Given the description of an element on the screen output the (x, y) to click on. 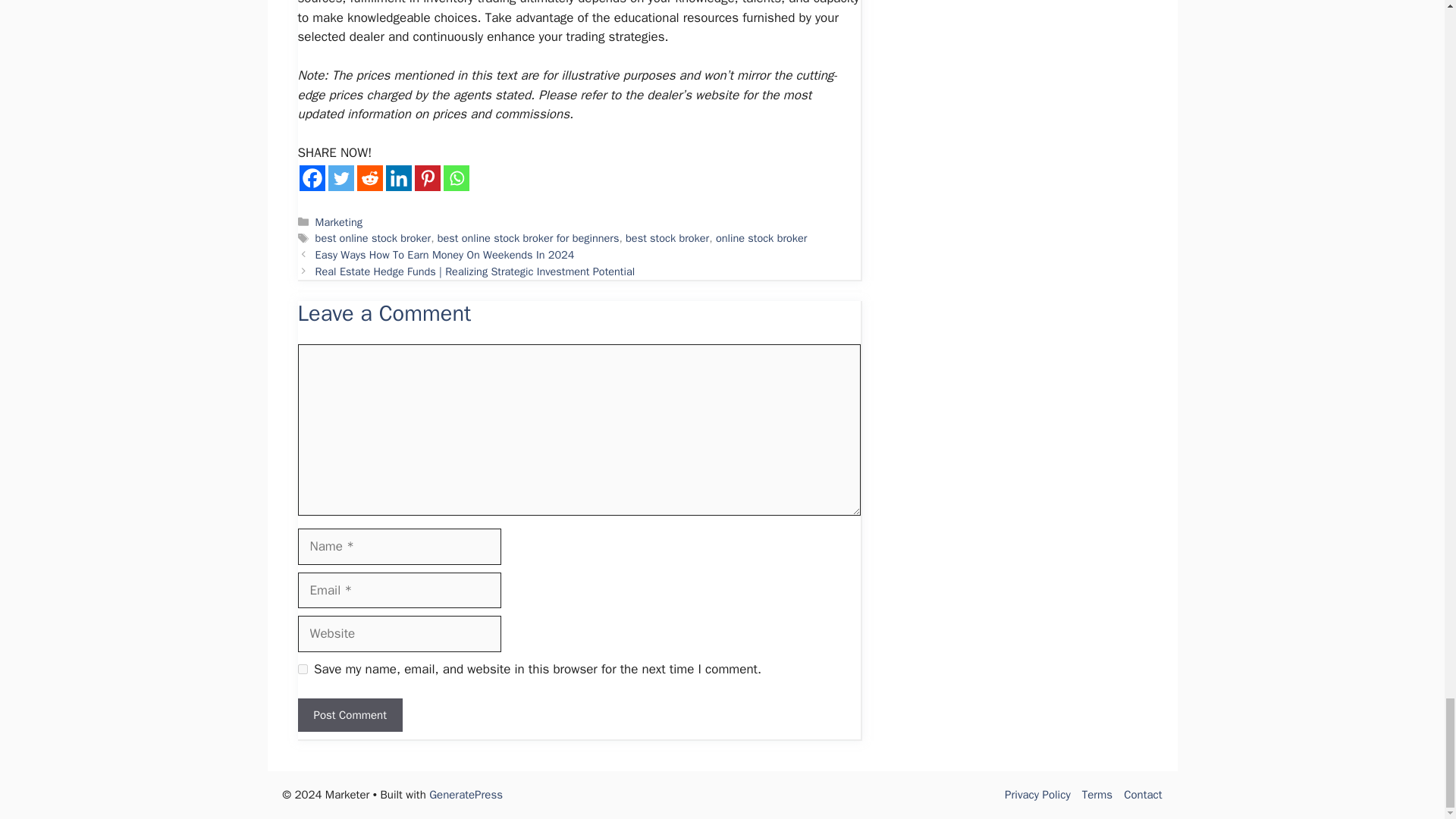
Facebook (311, 177)
Linkedin (397, 177)
Post Comment (349, 715)
best online stock broker for beginners (529, 237)
Easy Ways How To Earn Money On Weekends In 2024 (445, 254)
Marketing (338, 222)
Post Comment (349, 715)
Reddit (368, 177)
Pinterest (426, 177)
best stock broker (667, 237)
